Given the description of an element on the screen output the (x, y) to click on. 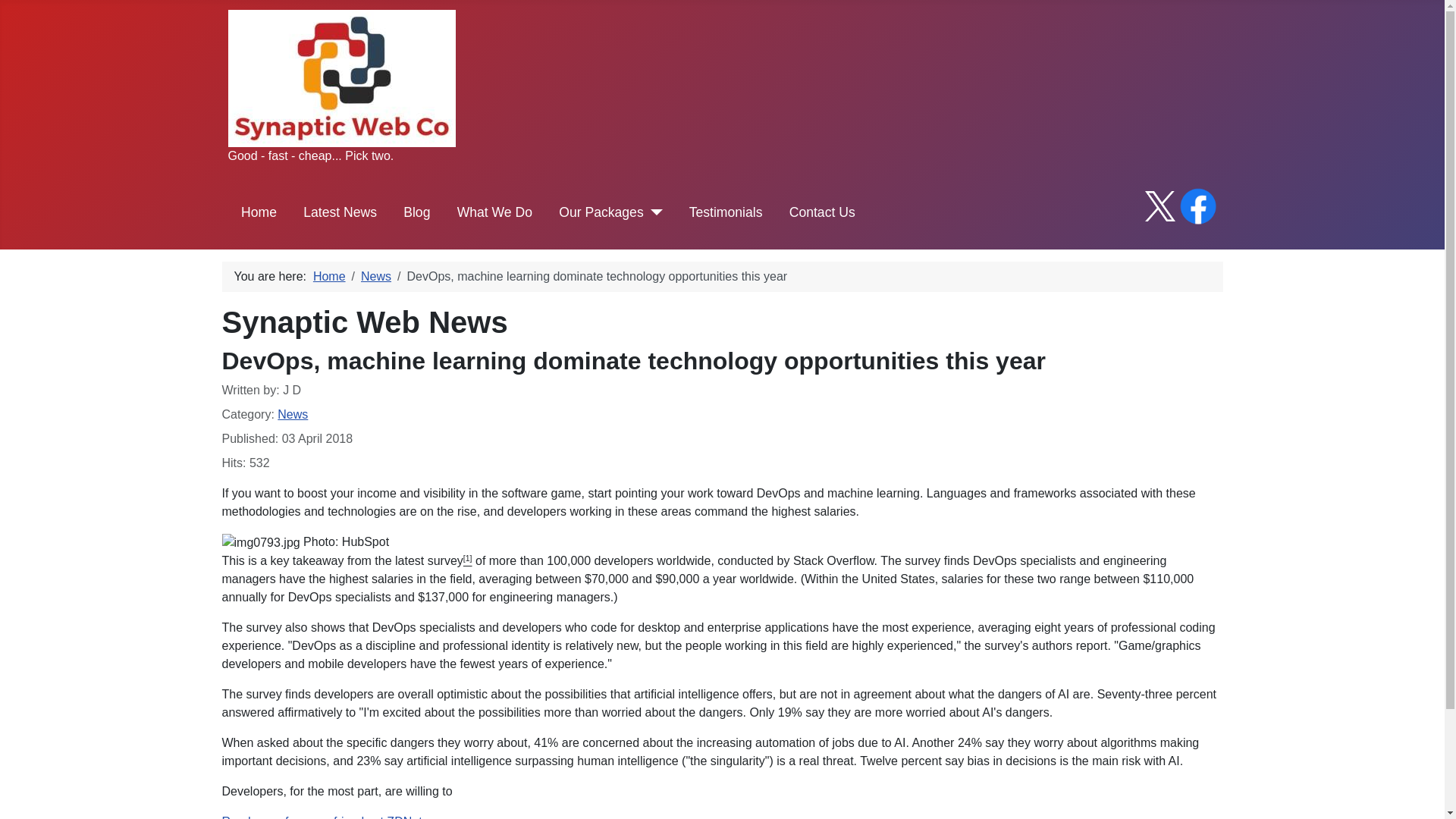
Home (329, 276)
News (376, 276)
DevOps, machine learning dominate technology oppor (321, 816)
survey (445, 560)
What We Do (494, 211)
Contact Us (822, 211)
News (292, 413)
Blog (416, 211)
Testimonials (725, 211)
Read more from our friends at ZDNet (321, 816)
